Given the description of an element on the screen output the (x, y) to click on. 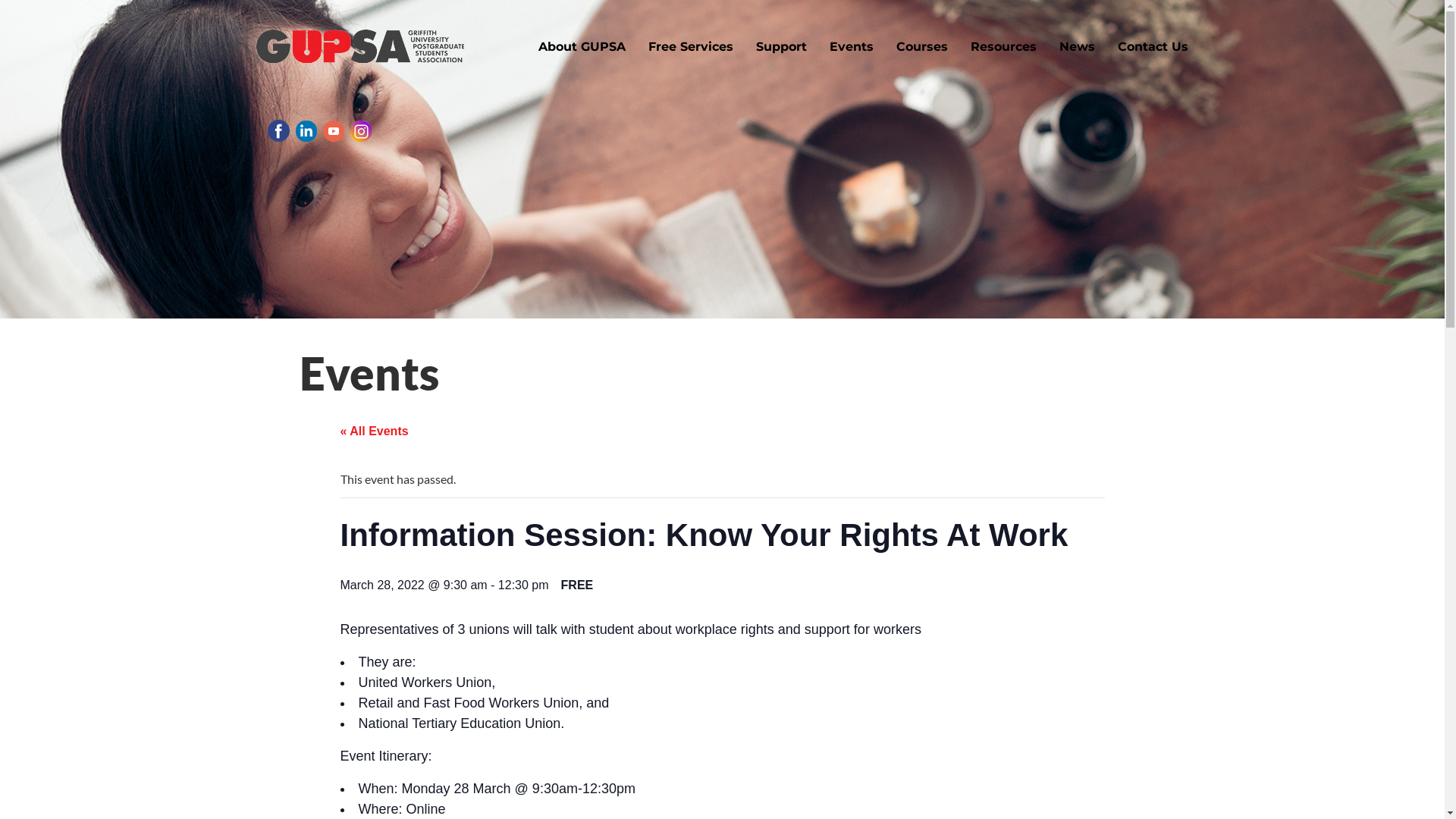
Contact Us Element type: text (1151, 46)
About GUPSA Element type: text (581, 46)
Support Element type: text (781, 46)
News Element type: text (1077, 46)
Resources Element type: text (1002, 46)
Events Element type: text (850, 46)
Free Services Element type: text (690, 46)
Courses Element type: text (921, 46)
